Given the description of an element on the screen output the (x, y) to click on. 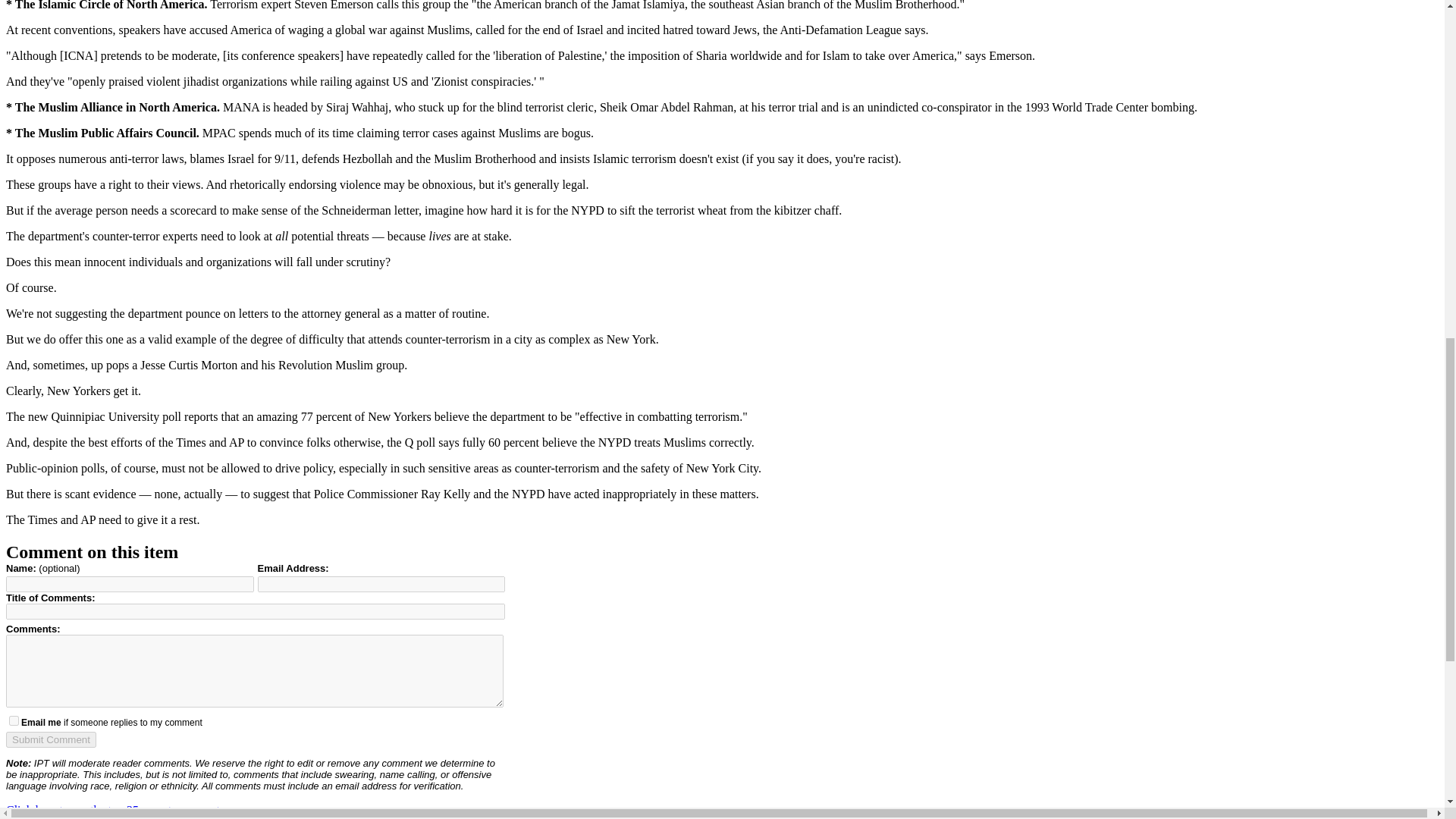
Click here to see the top 25 recent comments. (116, 809)
Submit Comment (50, 739)
1 (13, 720)
